Given the description of an element on the screen output the (x, y) to click on. 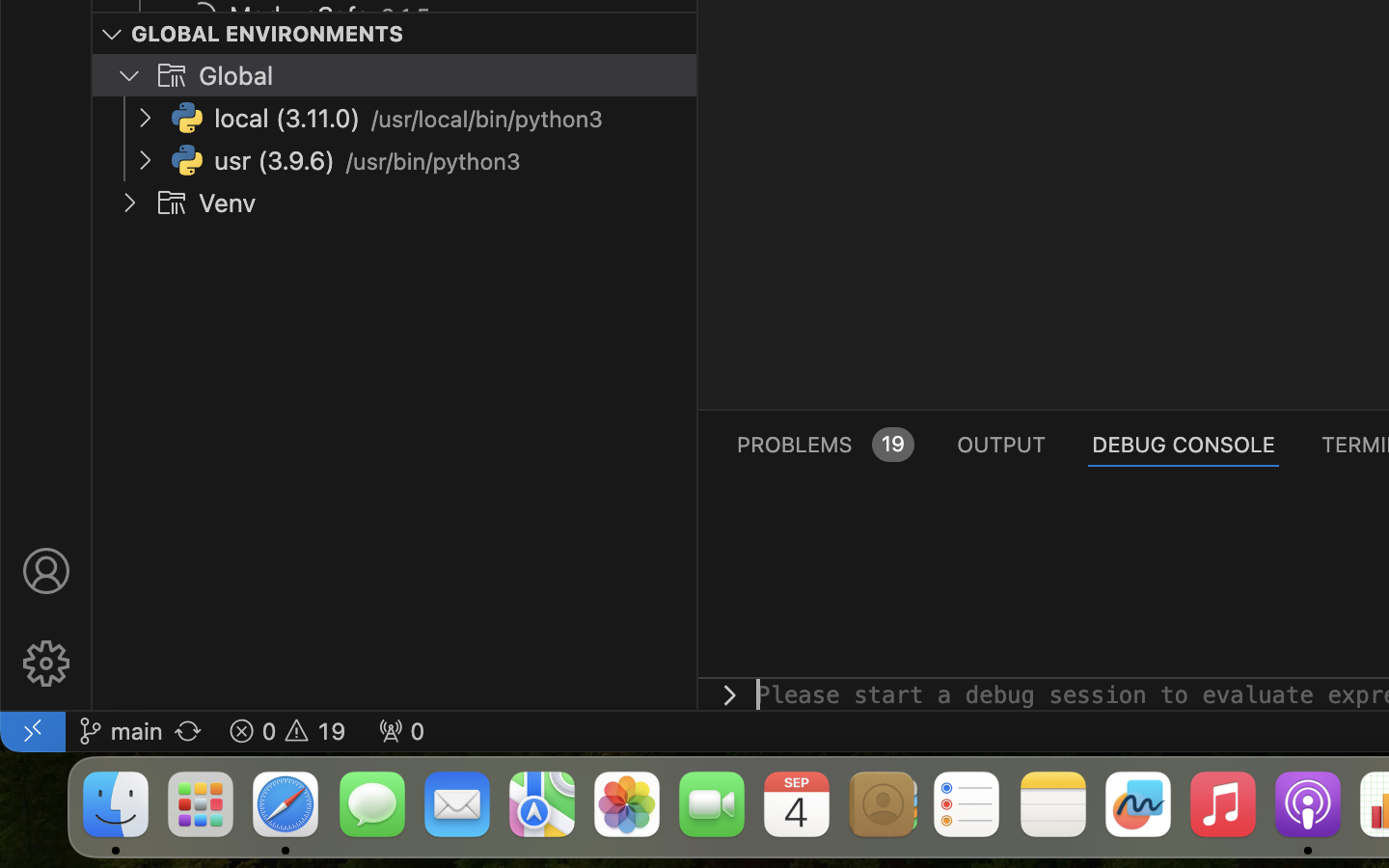
/usr/bin/python3 Element type: AXStaticText (432, 161)
19  0  Element type: AXButton (286, 730)
0 PROBLEMS 19 Element type: AXRadioButton (824, 443)
 Element type: AXGroup (46, 570)
local (3.11.0) Element type: AXStaticText (287, 118)
